Given the description of an element on the screen output the (x, y) to click on. 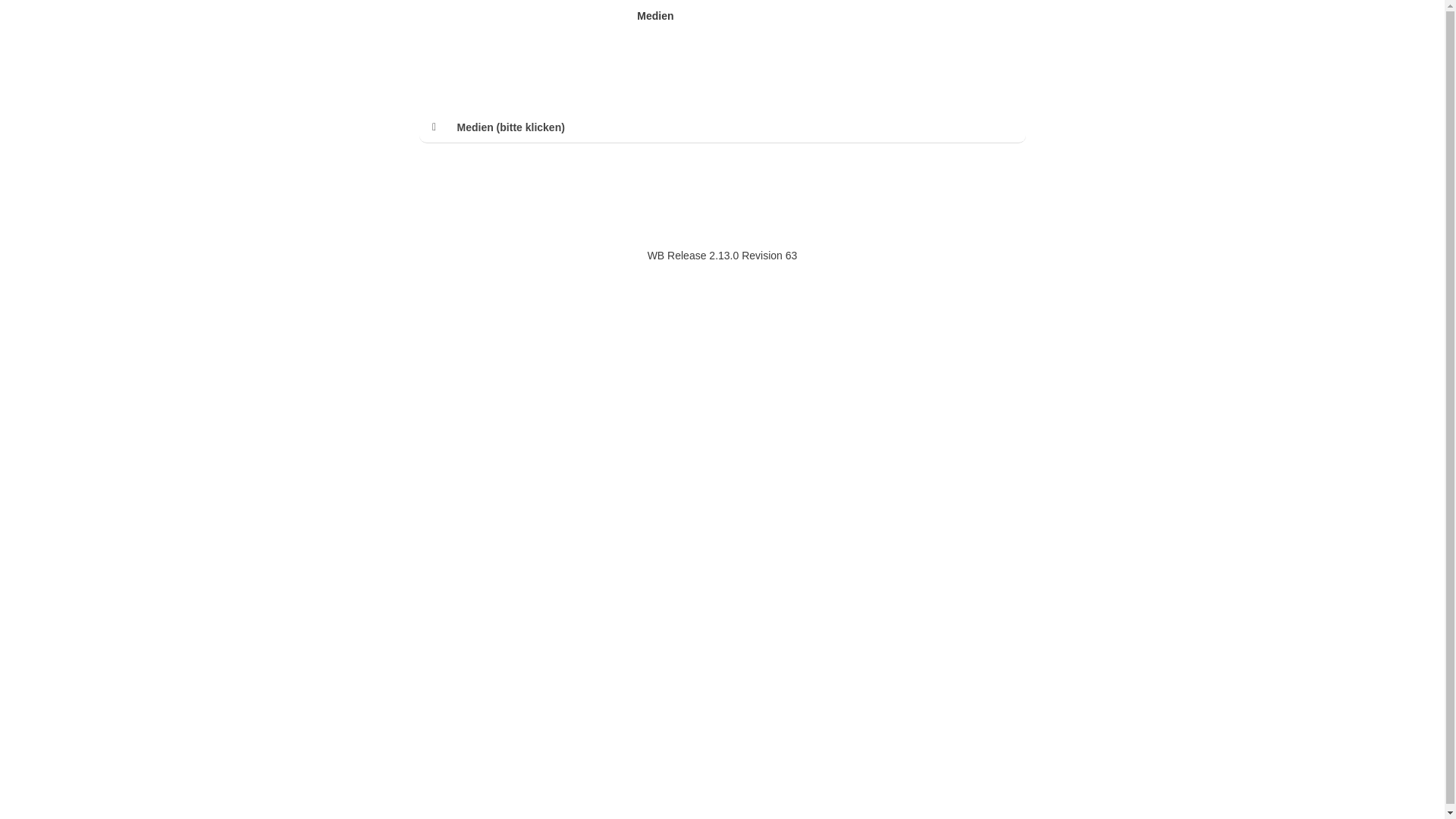
Know-how Element type: text (541, 15)
Medien (bitte klicken) Element type: text (736, 127)
Medien Element type: text (654, 15)
Referenzen Element type: text (602, 15)
Kontakt Element type: text (699, 15)
